Given the description of an element on the screen output the (x, y) to click on. 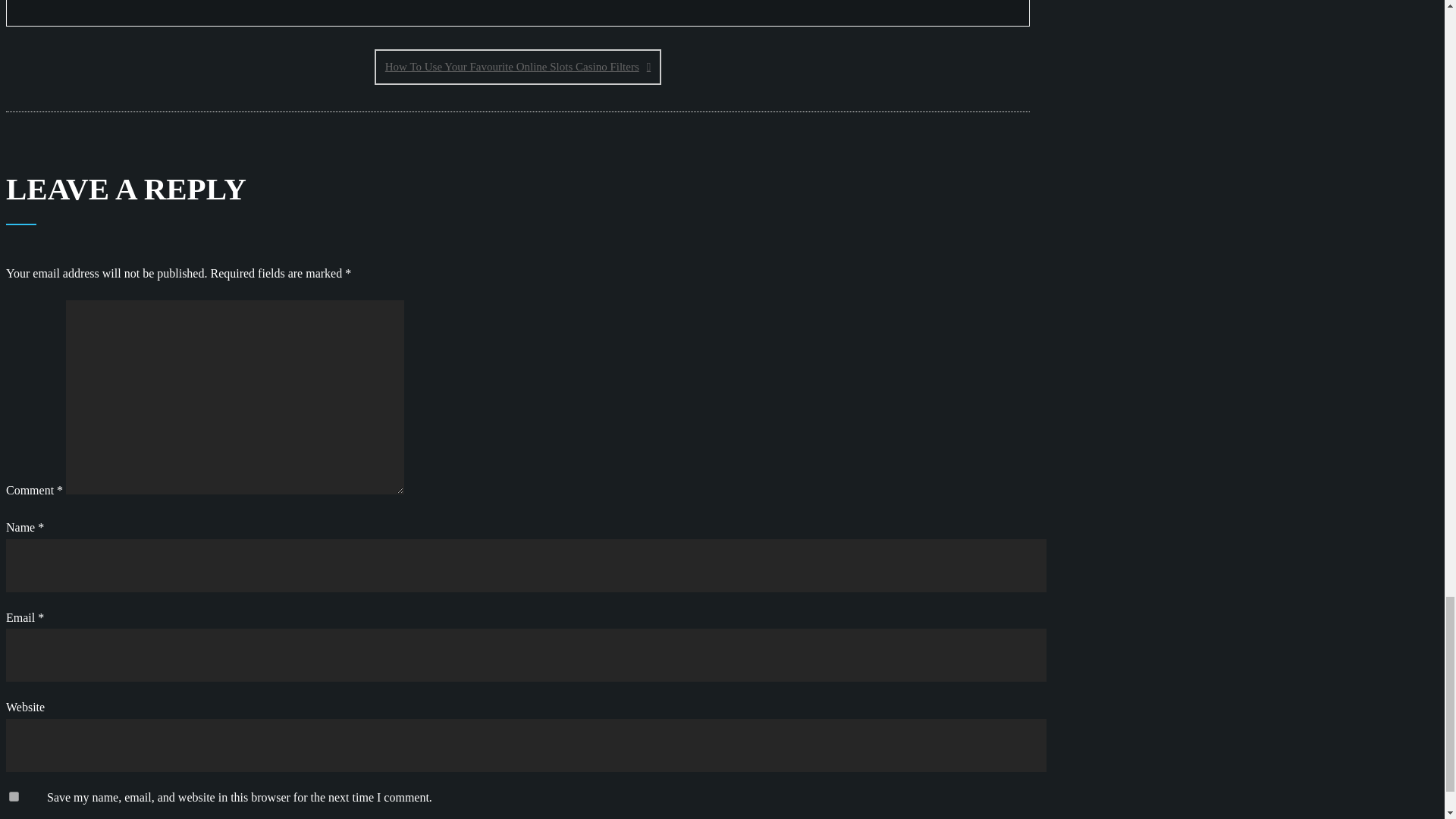
yes (13, 796)
Brandon Hires (66, 3)
How To Use Your Favourite Online Slots Casino Filters (517, 67)
